Given the description of an element on the screen output the (x, y) to click on. 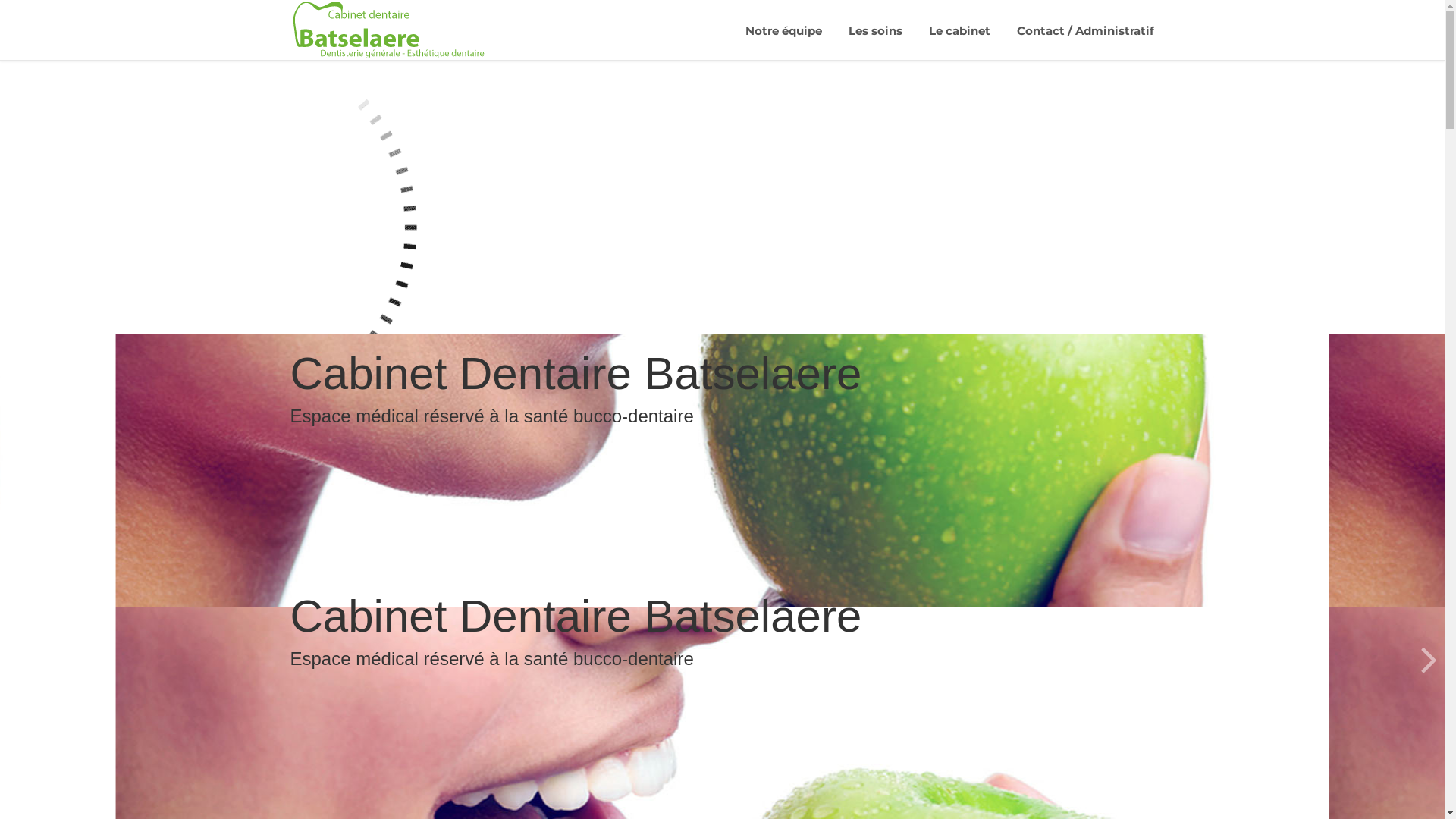
Contact / Administratif Element type: text (1084, 30)
Le cabinet Element type: text (958, 30)
Les soins Element type: text (874, 30)
